Given the description of an element on the screen output the (x, y) to click on. 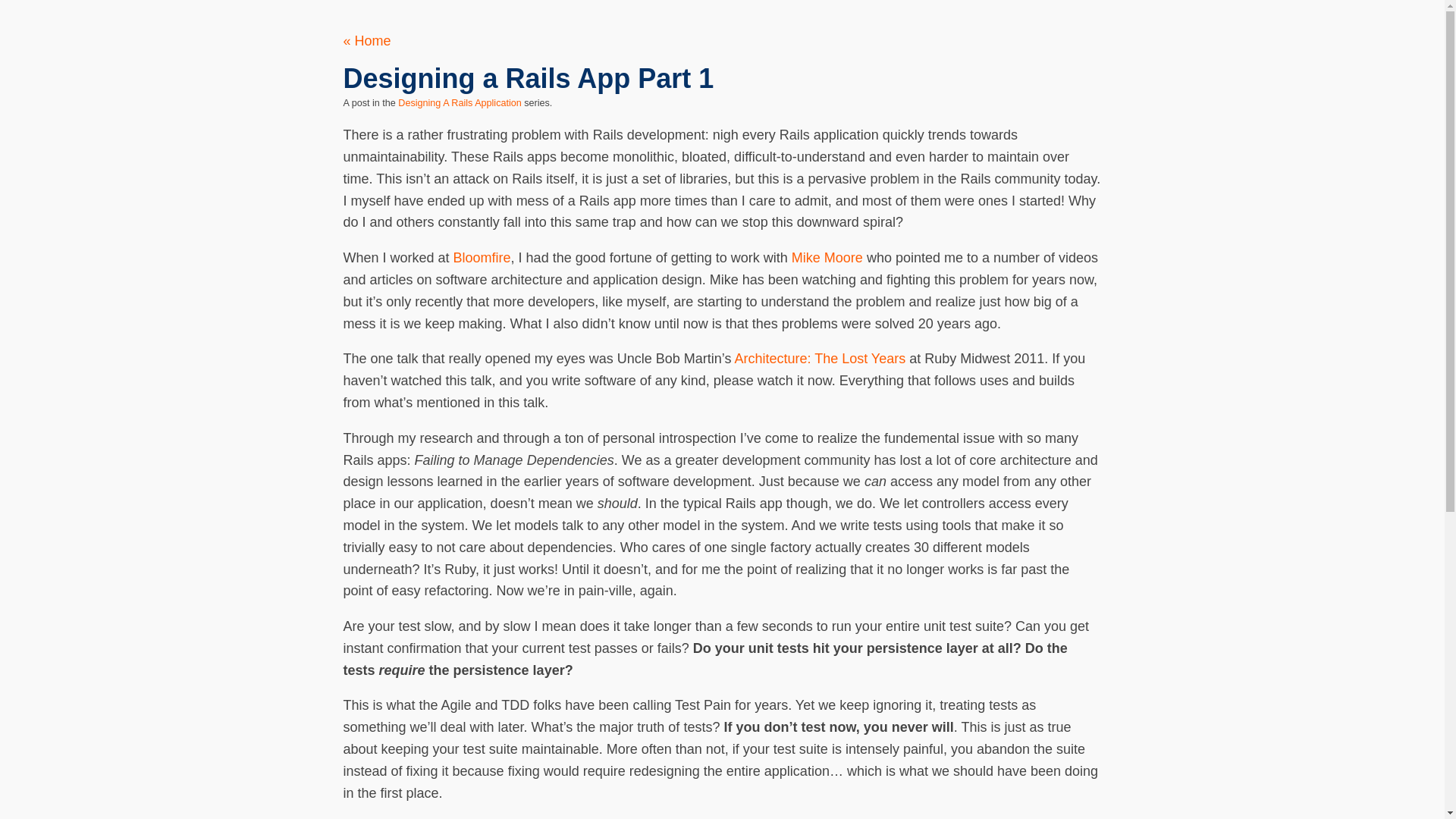
Bloomfire (481, 257)
Designing A Rails Application (459, 102)
